Given the description of an element on the screen output the (x, y) to click on. 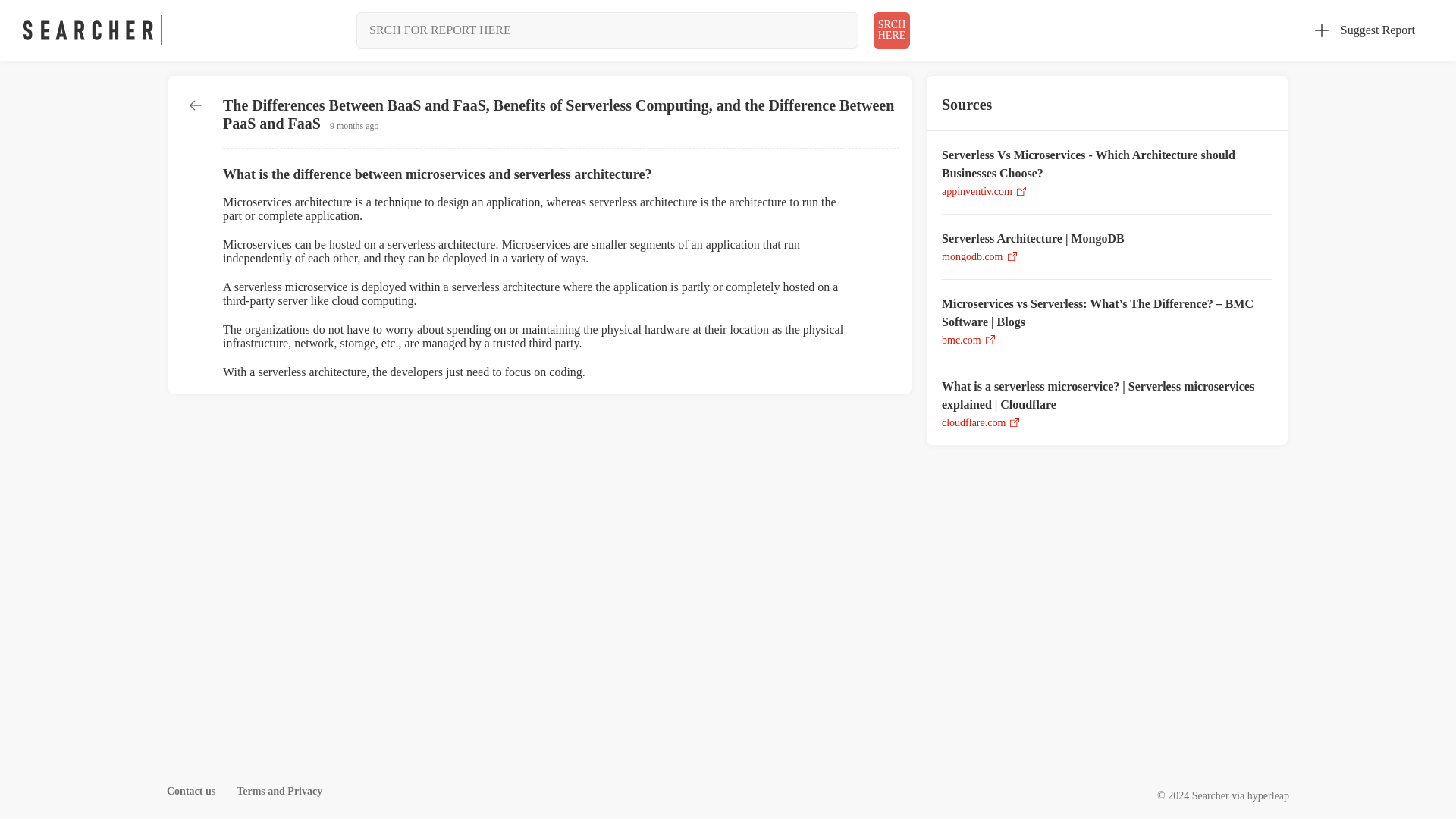
Suggest Report (891, 30)
Contact us (1364, 30)
hyperleap (191, 790)
mongodb.com (1267, 795)
bmc.com (972, 256)
Terms and Privacy (961, 339)
cloudflare.com (278, 790)
appinventiv.com (974, 422)
Go home link (976, 191)
